Given the description of an element on the screen output the (x, y) to click on. 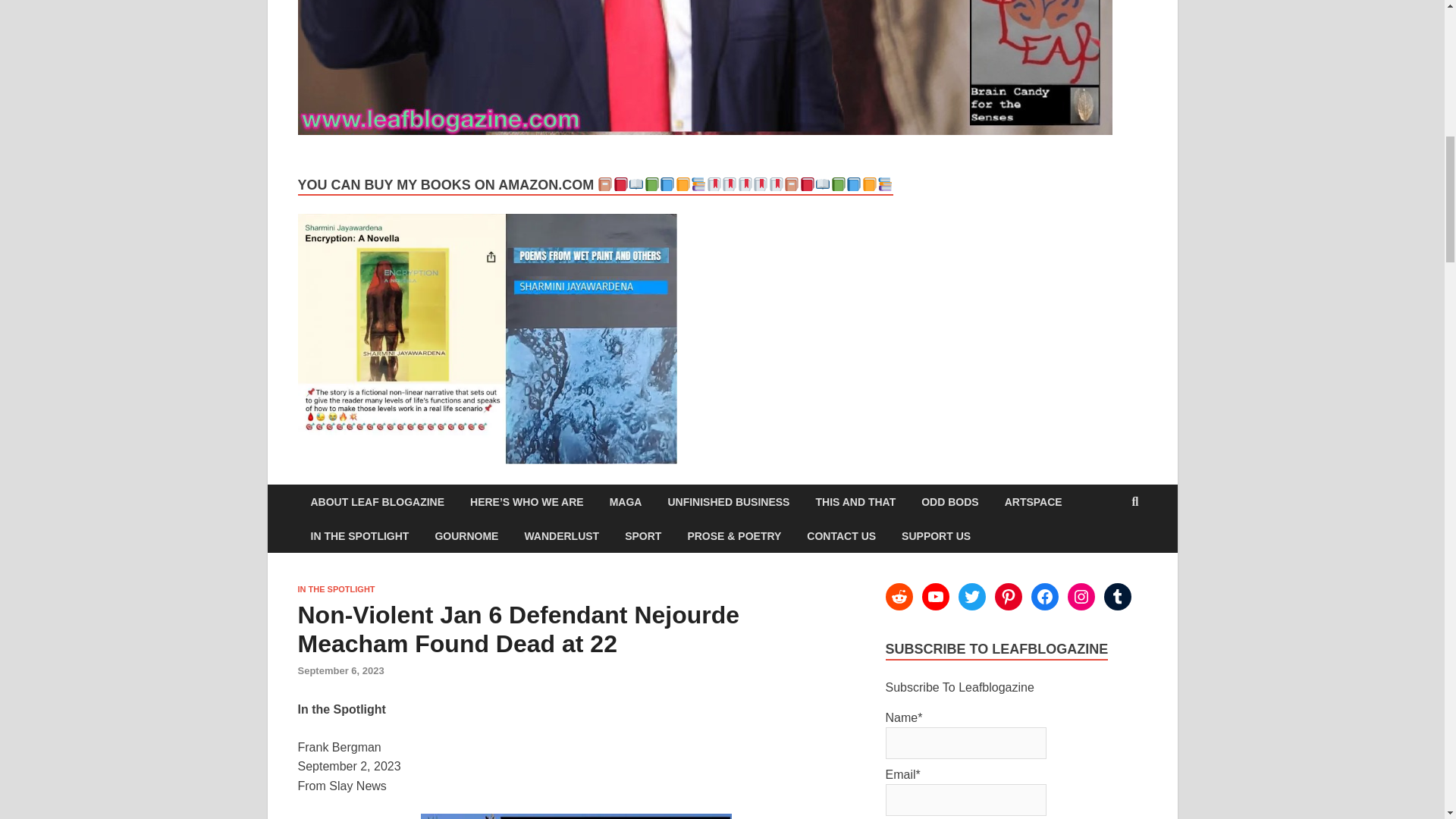
CONTACT US (840, 535)
SPORT (642, 535)
IN THE SPOTLIGHT (335, 588)
ARTSPACE (1033, 501)
WANDERLUST (561, 535)
ABOUT LEAF BLOGAZINE (377, 501)
IN THE SPOTLIGHT (359, 535)
ODD BODS (949, 501)
GOURNOME (466, 535)
MAGA (625, 501)
SUPPORT US (936, 535)
September 6, 2023 (340, 670)
THIS AND THAT (855, 501)
UNFINISHED BUSINESS (727, 501)
